Given the description of an element on the screen output the (x, y) to click on. 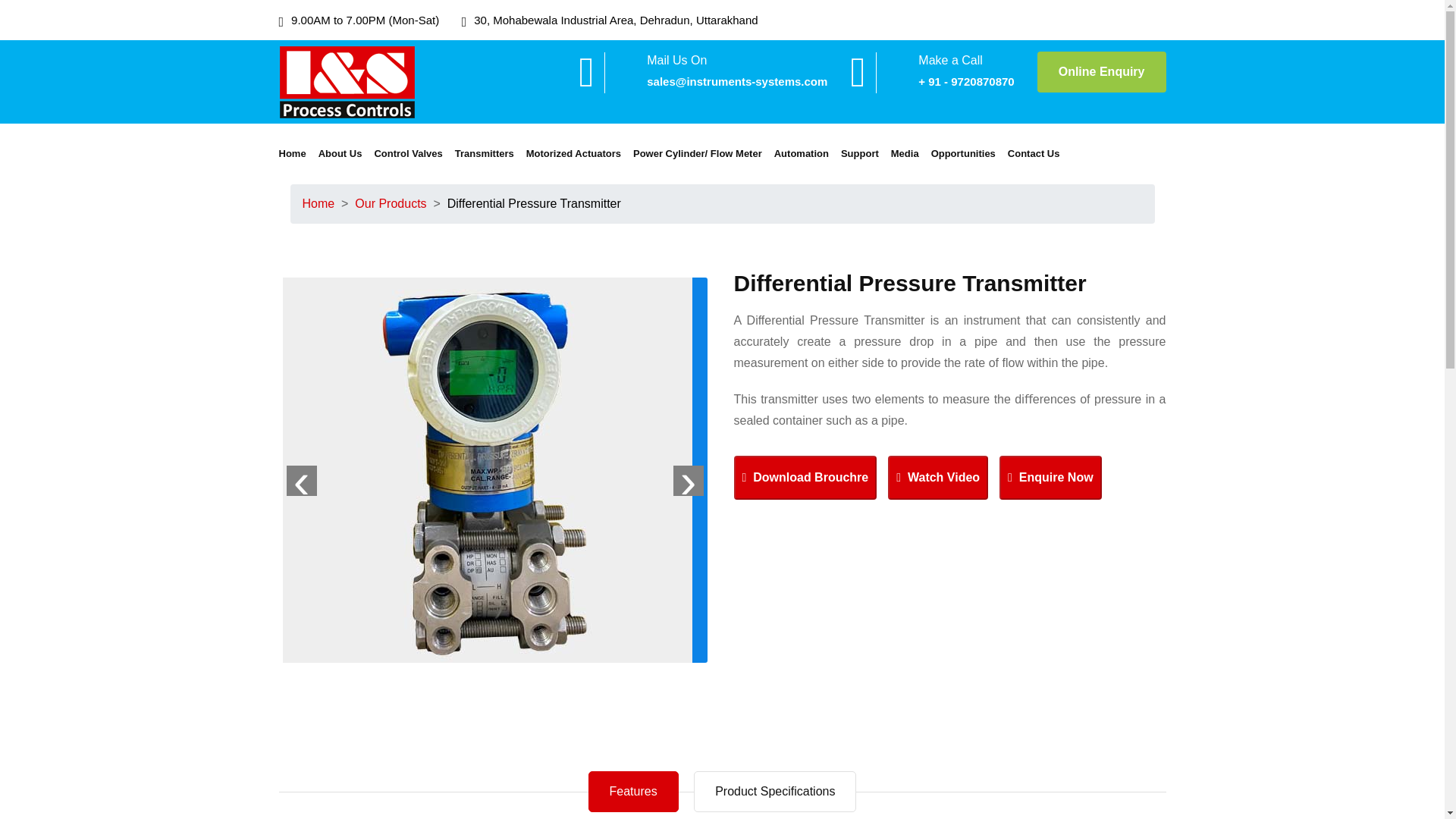
About Us (341, 153)
Online Enquiry (1101, 71)
Control Valves (409, 153)
Home (293, 153)
Automation (802, 153)
Motorized Actuators (574, 153)
Transmitters (485, 153)
